Given the description of an element on the screen output the (x, y) to click on. 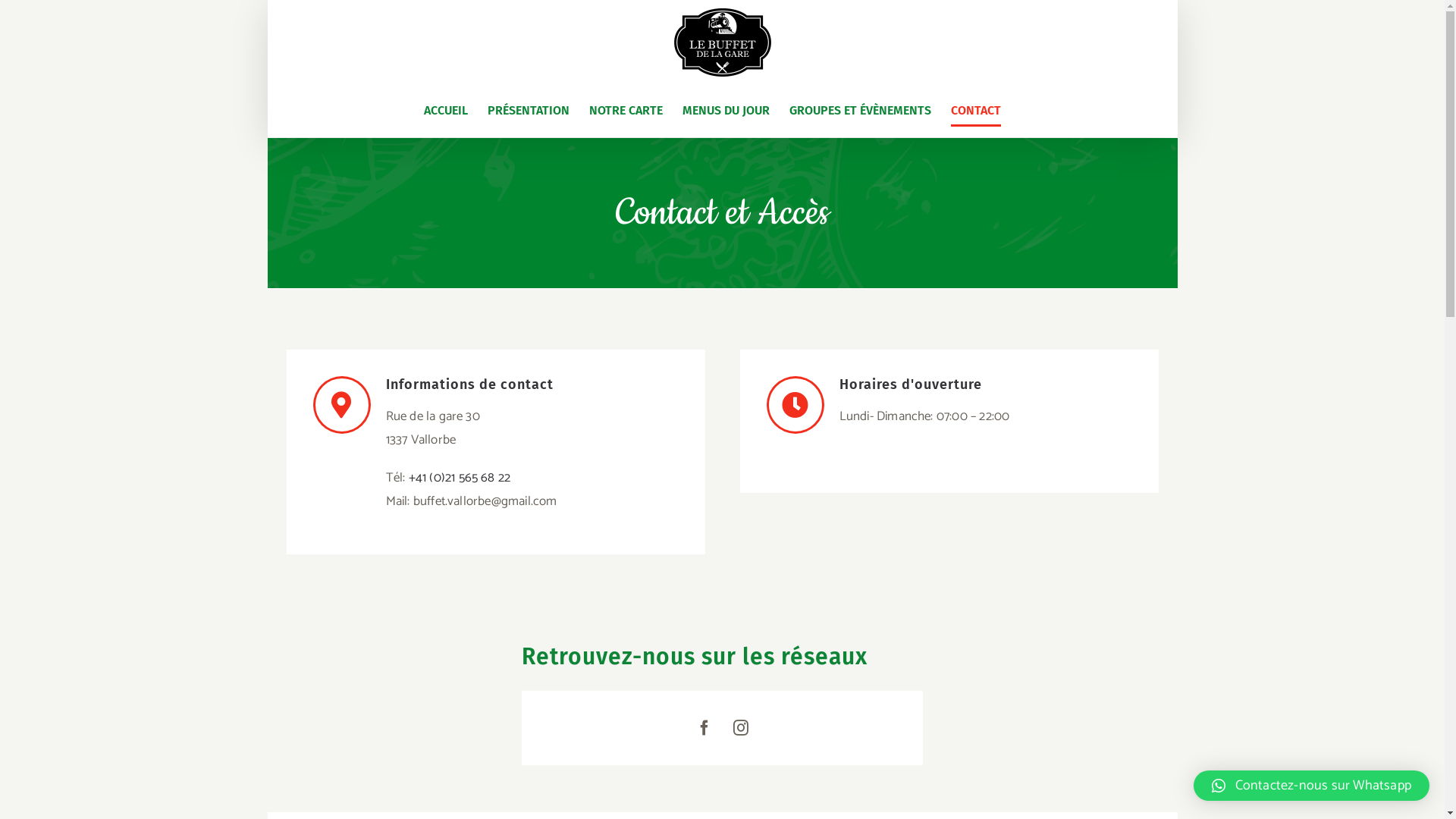
MENUS DU JOUR Element type: text (725, 110)
Contactez-nous sur Whatsapp Element type: text (1311, 785)
NOTRE CARTE Element type: text (625, 110)
CONTACT Element type: text (975, 110)
+41 (0)21 565 68 22 Element type: text (458, 477)
ACCUEIL Element type: text (445, 110)
